Given the description of an element on the screen output the (x, y) to click on. 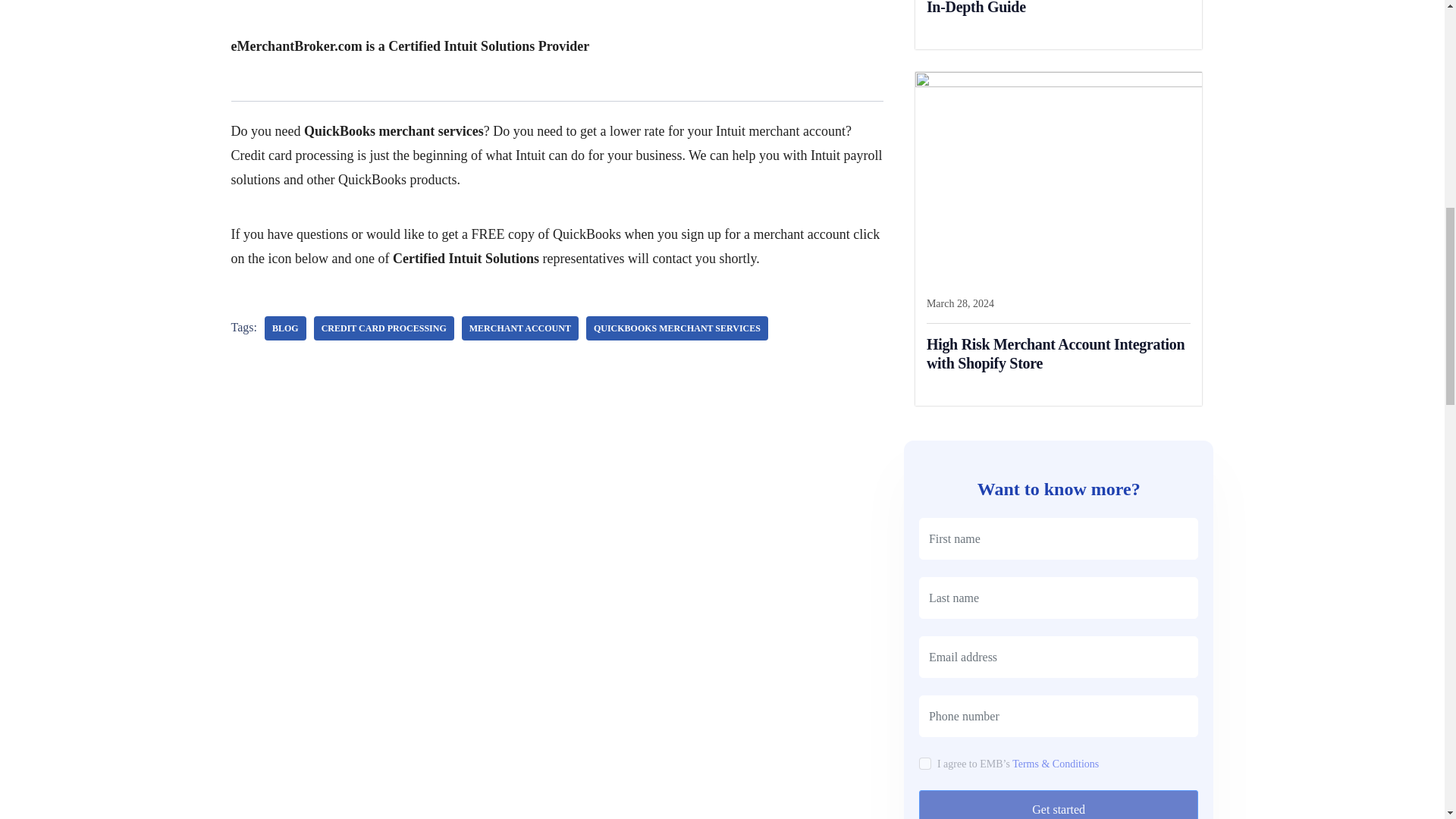
Blog (284, 328)
credit card processing (384, 328)
quickbooks merchant services (677, 328)
merchant account (519, 328)
